Given the description of an element on the screen output the (x, y) to click on. 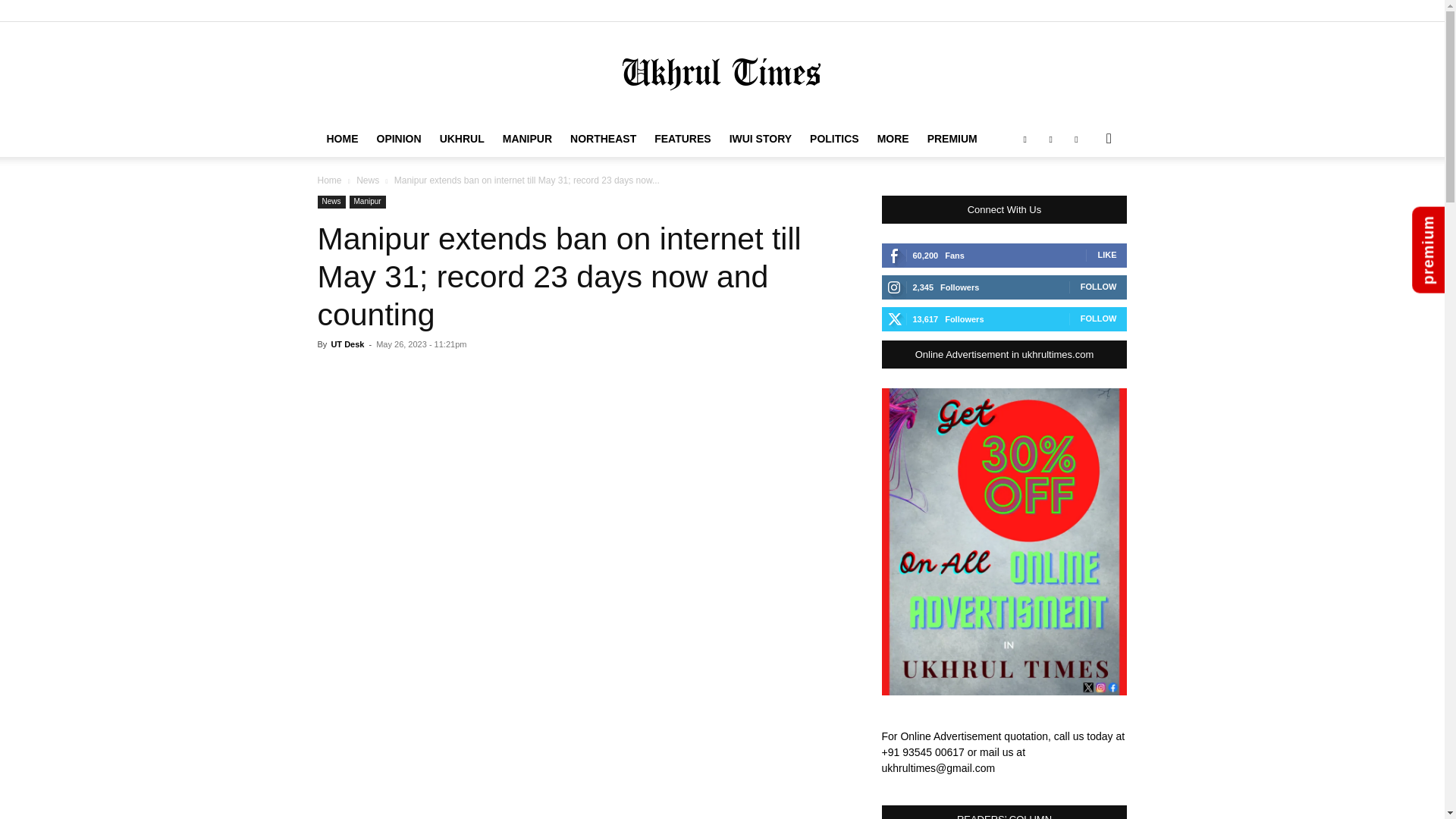
MORE (892, 138)
NORTHEAST (602, 138)
HOME (341, 138)
IWUI STORY (760, 138)
POLITICS (833, 138)
Ukhrul Times (721, 72)
OPINION (397, 138)
FEATURES (682, 138)
UKHRUL (461, 138)
MANIPUR (526, 138)
